Given the description of an element on the screen output the (x, y) to click on. 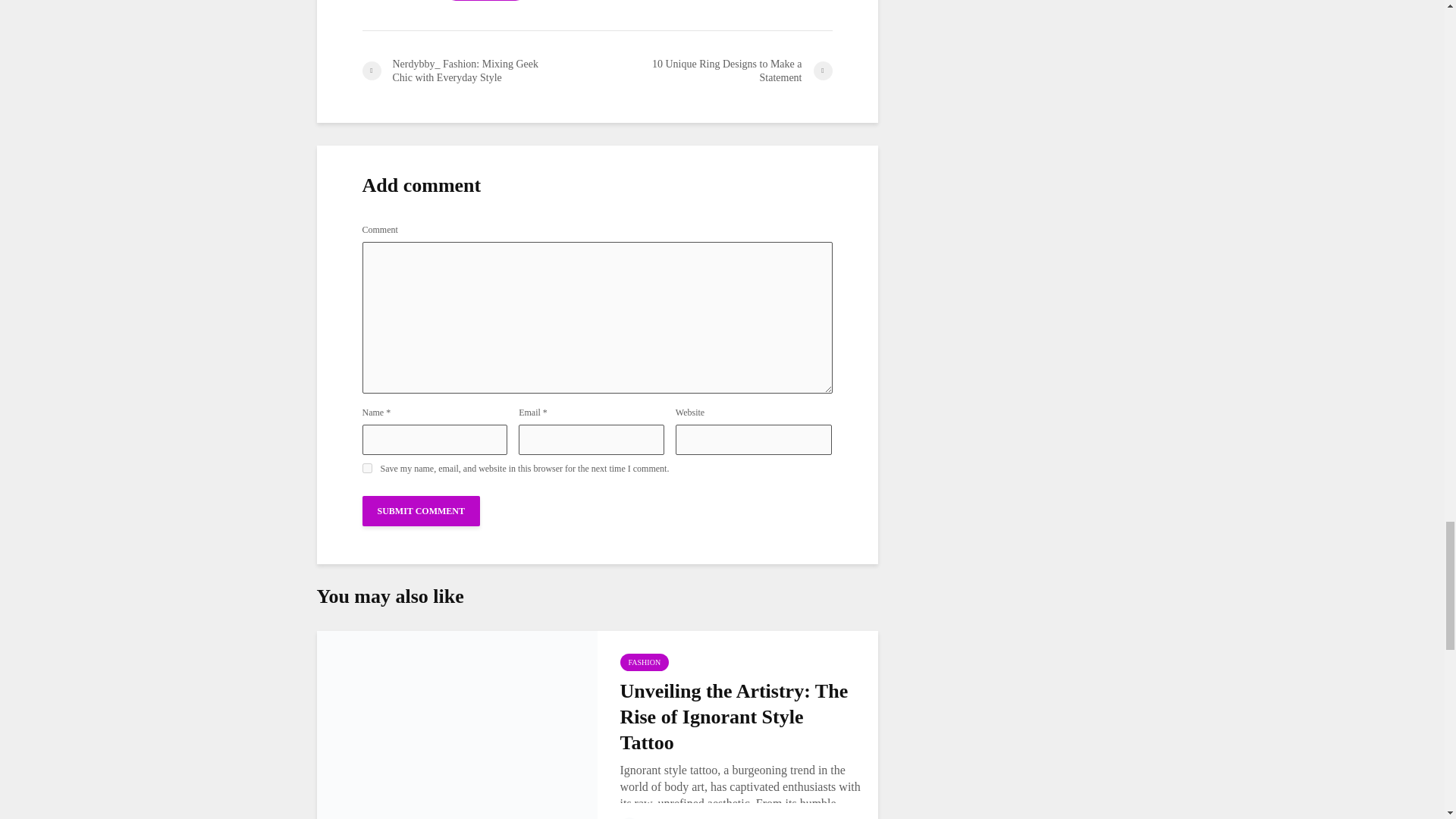
10 Unique Ring Designs to Make a Statement (714, 71)
FASHION (644, 661)
yes (367, 468)
Submit Comment (421, 511)
Unveiling the Artistry: The Rise of Ignorant Style Tattoo (740, 716)
Unveiling the Artistry: The Rise of Ignorant Style Tattoo (456, 742)
Submit Comment (421, 511)
